Given the description of an element on the screen output the (x, y) to click on. 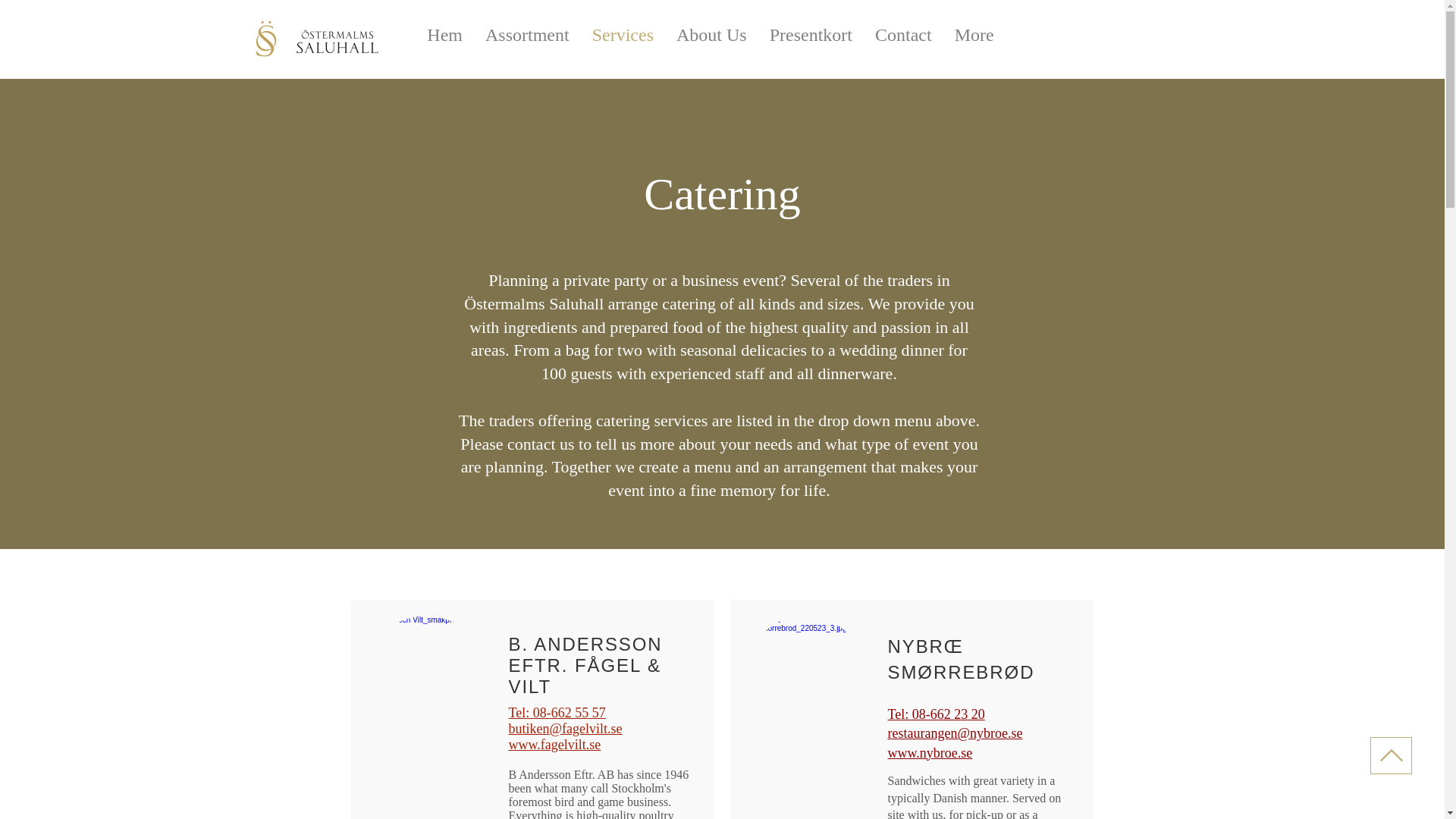
Assortment (527, 41)
About Us (711, 41)
Contact (903, 41)
Hem (444, 41)
Services (622, 41)
Tel: 08-662 55 57 (556, 712)
www.fagelvilt.se (553, 744)
